Given the description of an element on the screen output the (x, y) to click on. 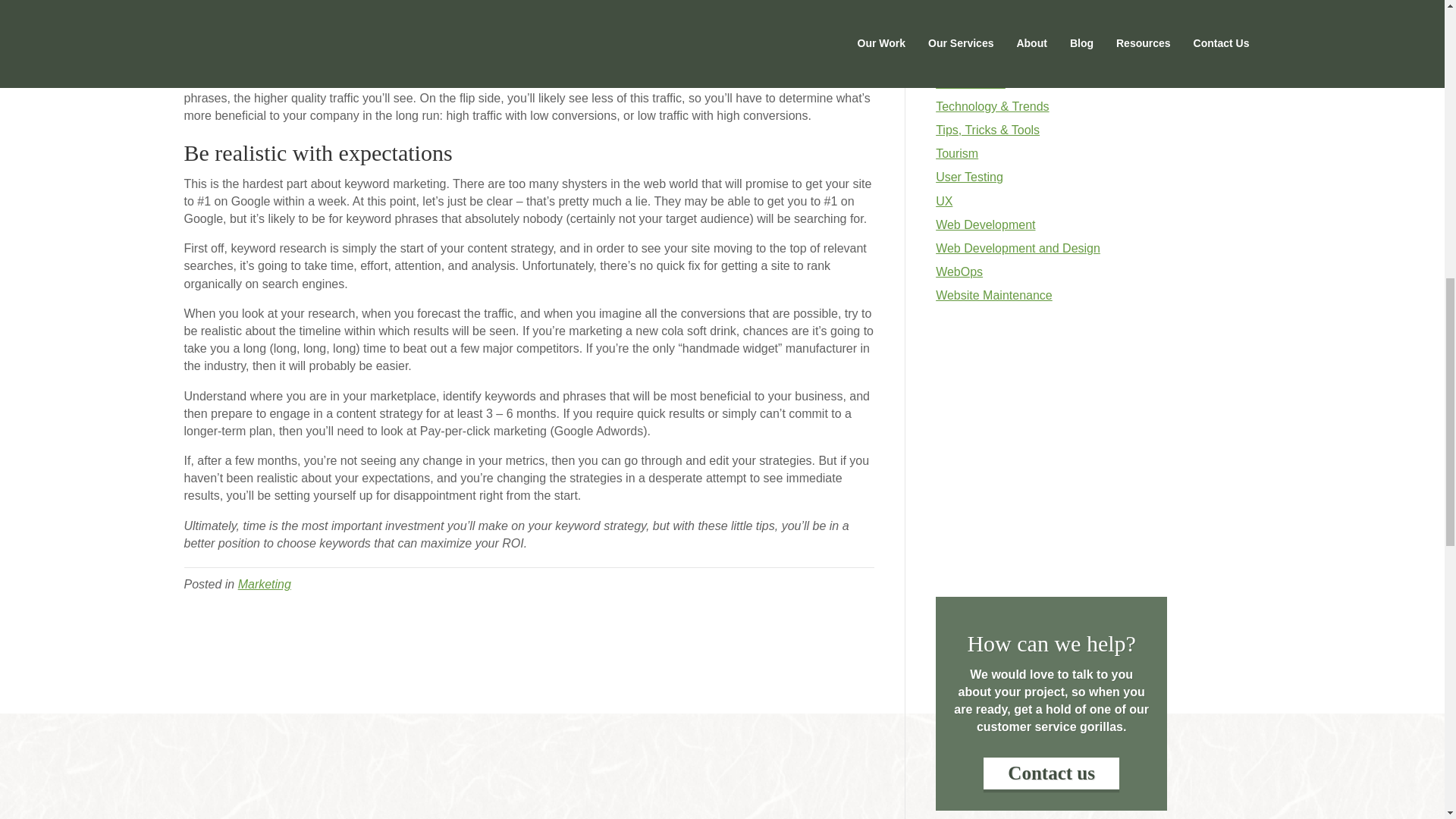
Project Management (992, 34)
SEO (948, 59)
Web Development (985, 224)
Social Media (971, 82)
Tourism (957, 153)
UX (944, 201)
Paid Media (965, 11)
User Testing (969, 176)
Marketing (264, 584)
